Given the description of an element on the screen output the (x, y) to click on. 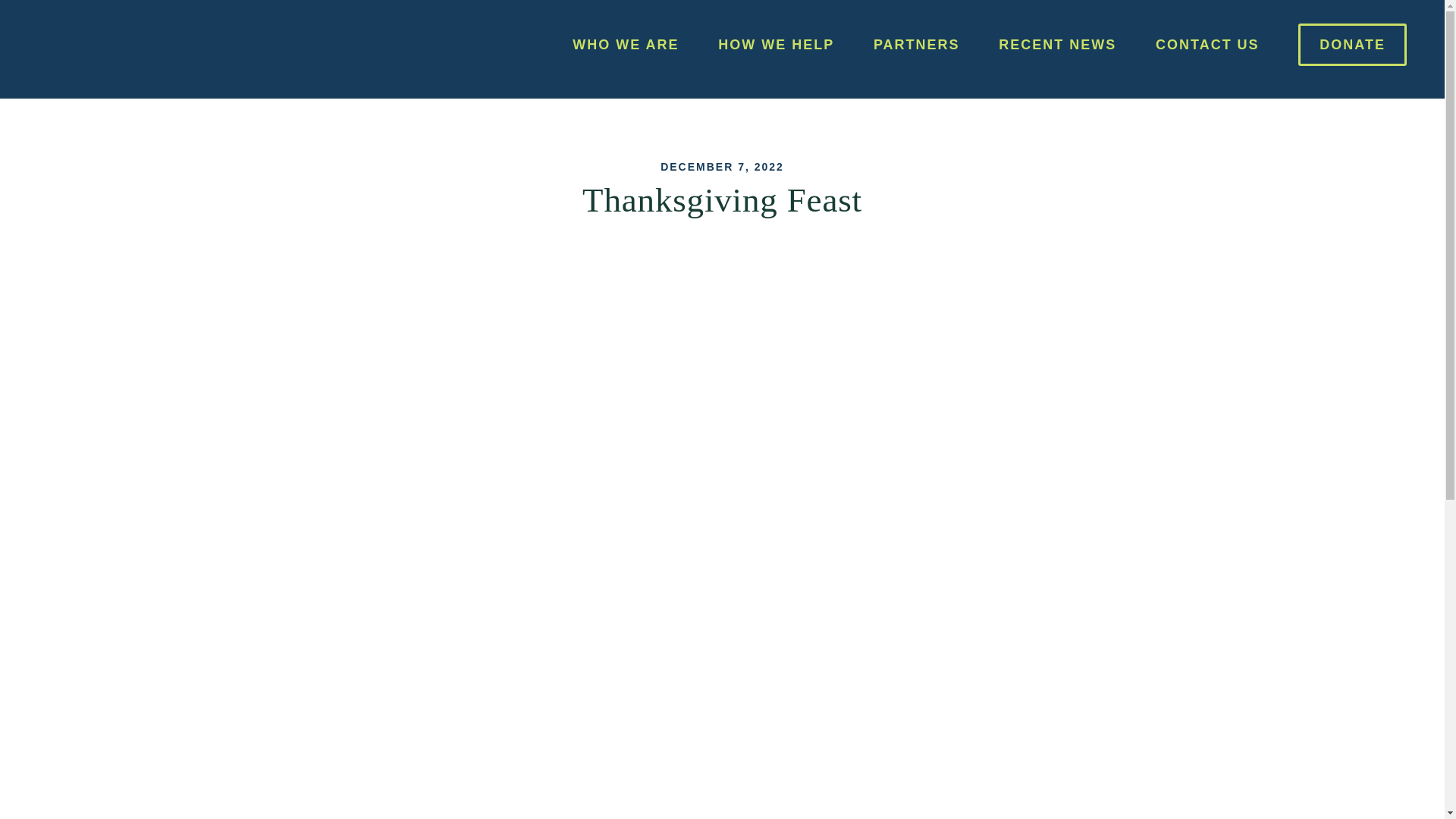
RECENT NEWS (1057, 46)
PARTNERS (916, 46)
DONATE (1352, 46)
WHO WE ARE (625, 46)
CONTACT US (1207, 46)
HOW WE HELP (775, 46)
